Given the description of an element on the screen output the (x, y) to click on. 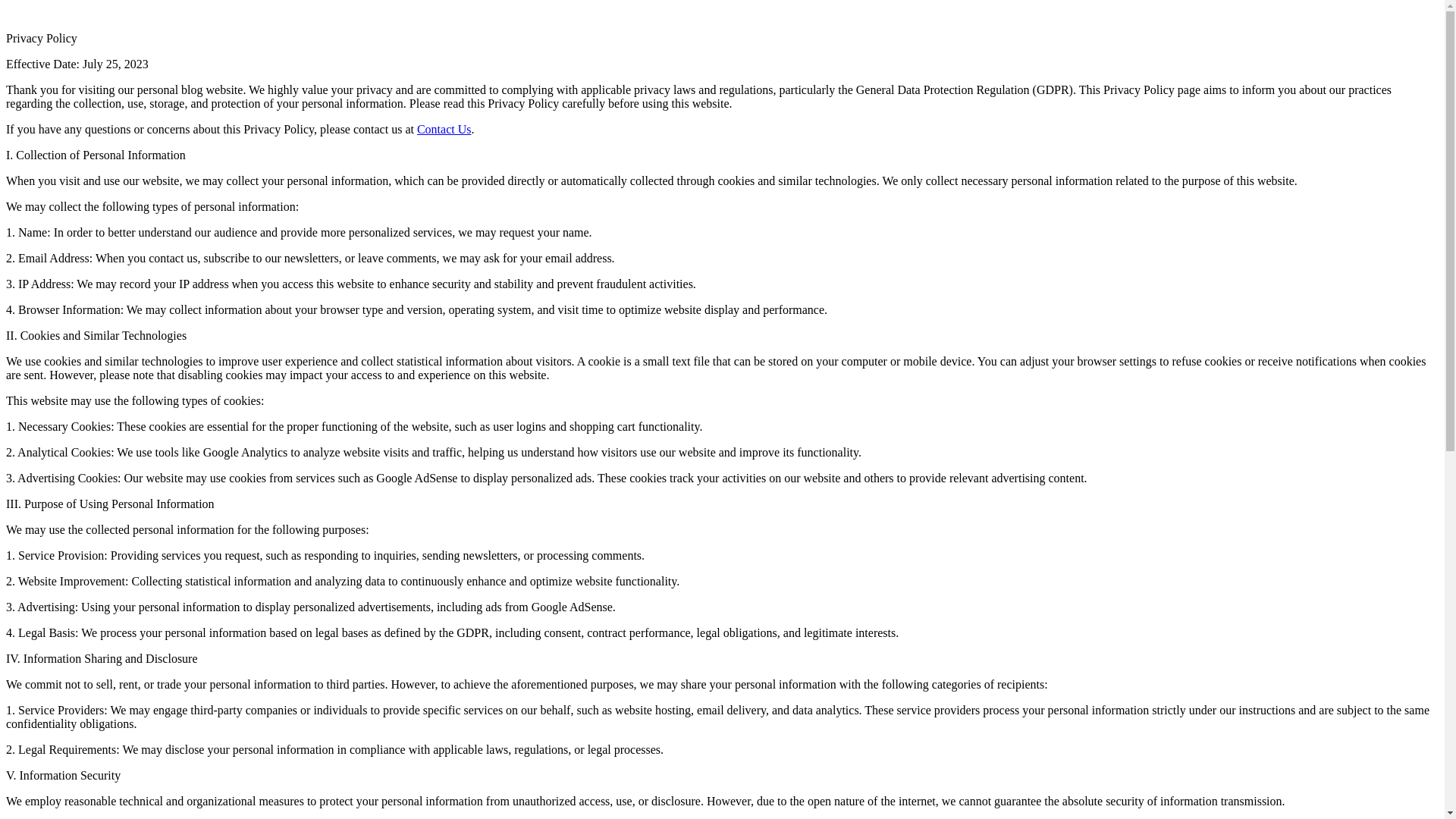
Contact Us (443, 128)
